Given the description of an element on the screen output the (x, y) to click on. 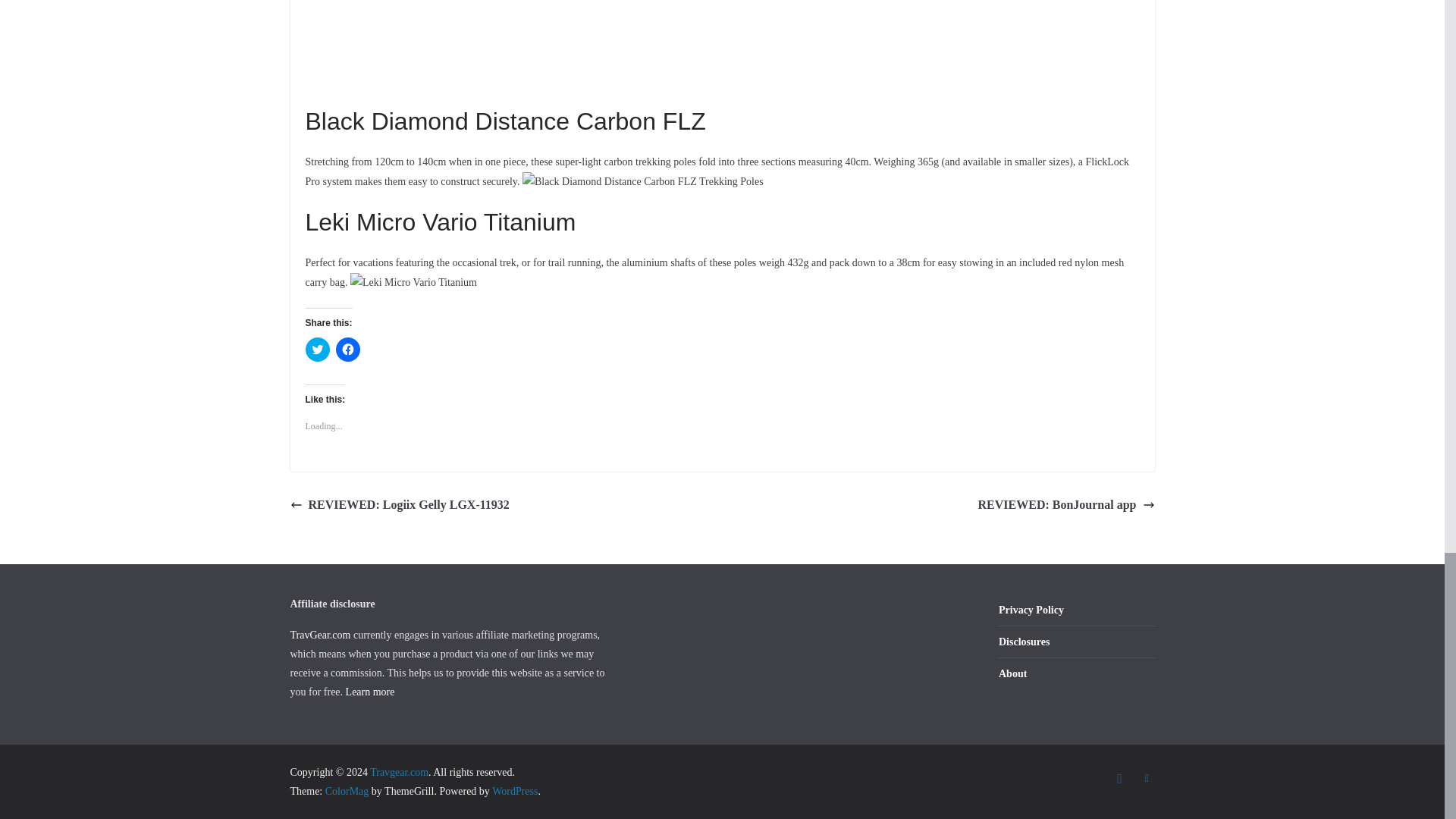
Disclosures (1023, 641)
Privacy Policy (1031, 609)
ColorMag (346, 790)
ColorMag (346, 790)
Travgear.com (398, 772)
WordPress (514, 790)
Learn more (370, 691)
Click to share on Facebook (346, 349)
Travgear.com (398, 772)
About (1012, 673)
REVIEWED: Logiix Gelly LGX-11932 (398, 505)
TravGear.com (319, 634)
Click to share on Twitter (316, 349)
WordPress (514, 790)
REVIEWED: BonJournal app (1066, 505)
